Given the description of an element on the screen output the (x, y) to click on. 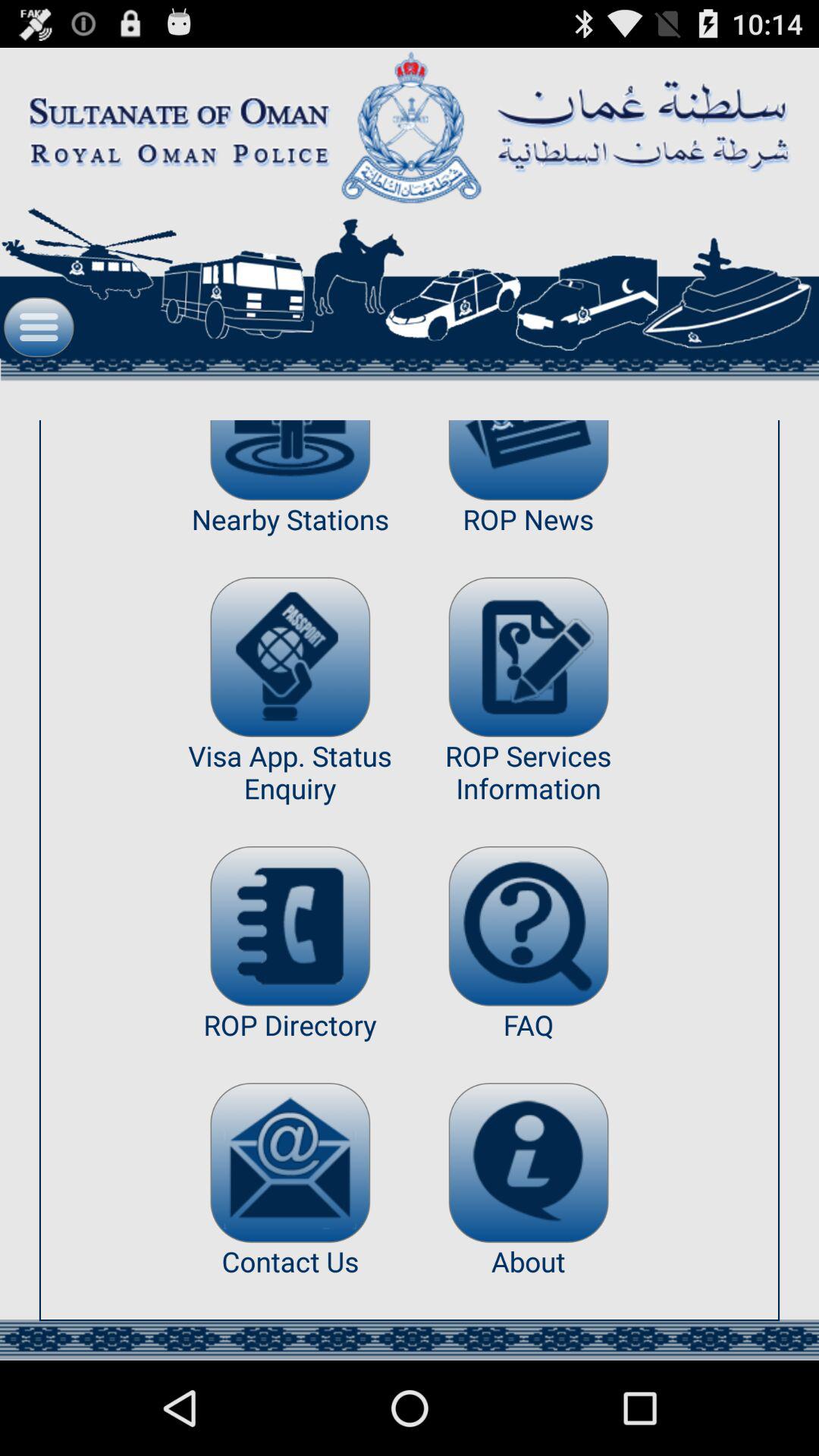
here type the name of the desired contact royal oman police (290, 926)
